Given the description of an element on the screen output the (x, y) to click on. 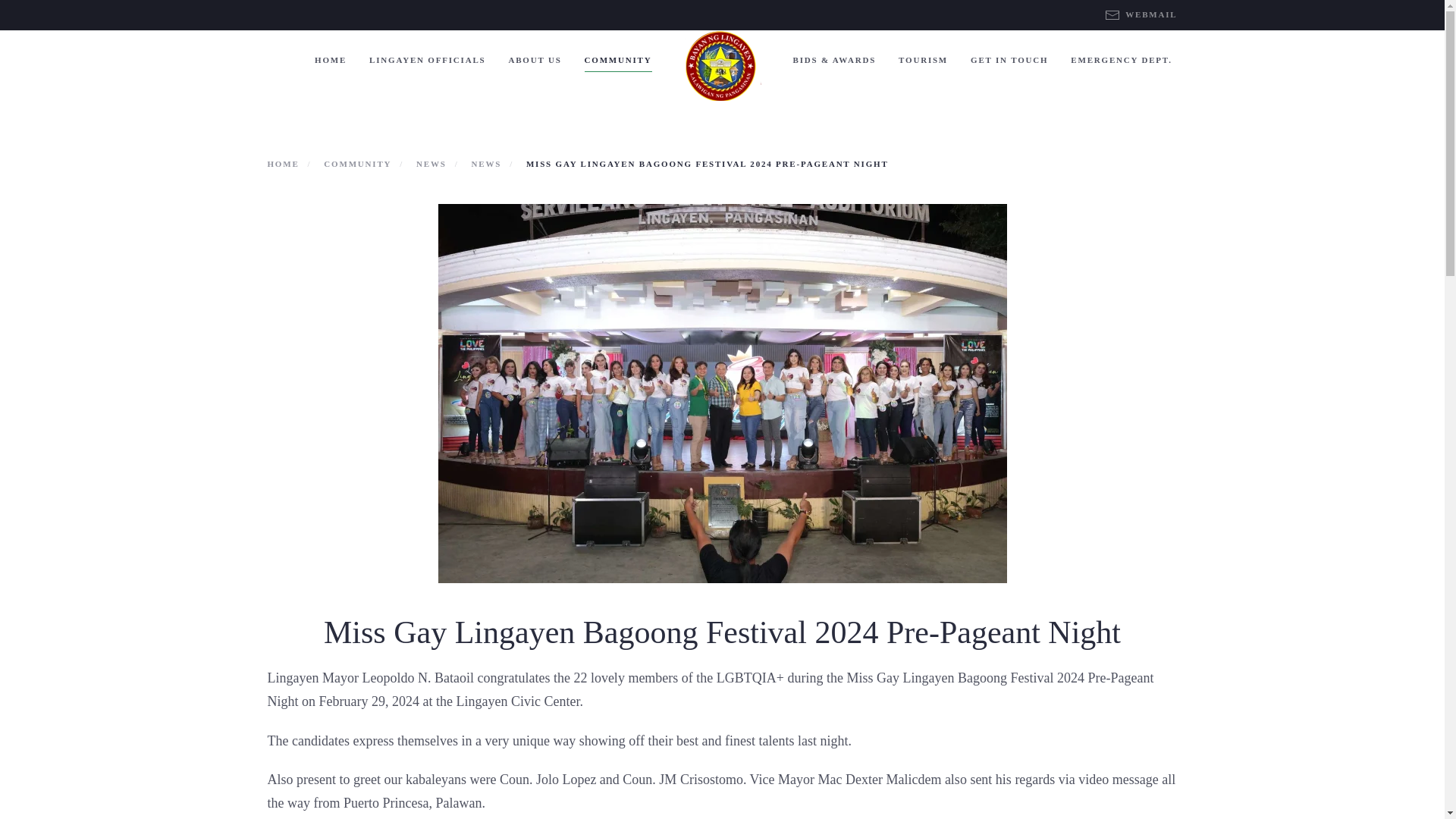
 WEBMAIL (1140, 14)
LINGAYEN OFFICIALS (426, 60)
COMMUNITY (618, 60)
